Given the description of an element on the screen output the (x, y) to click on. 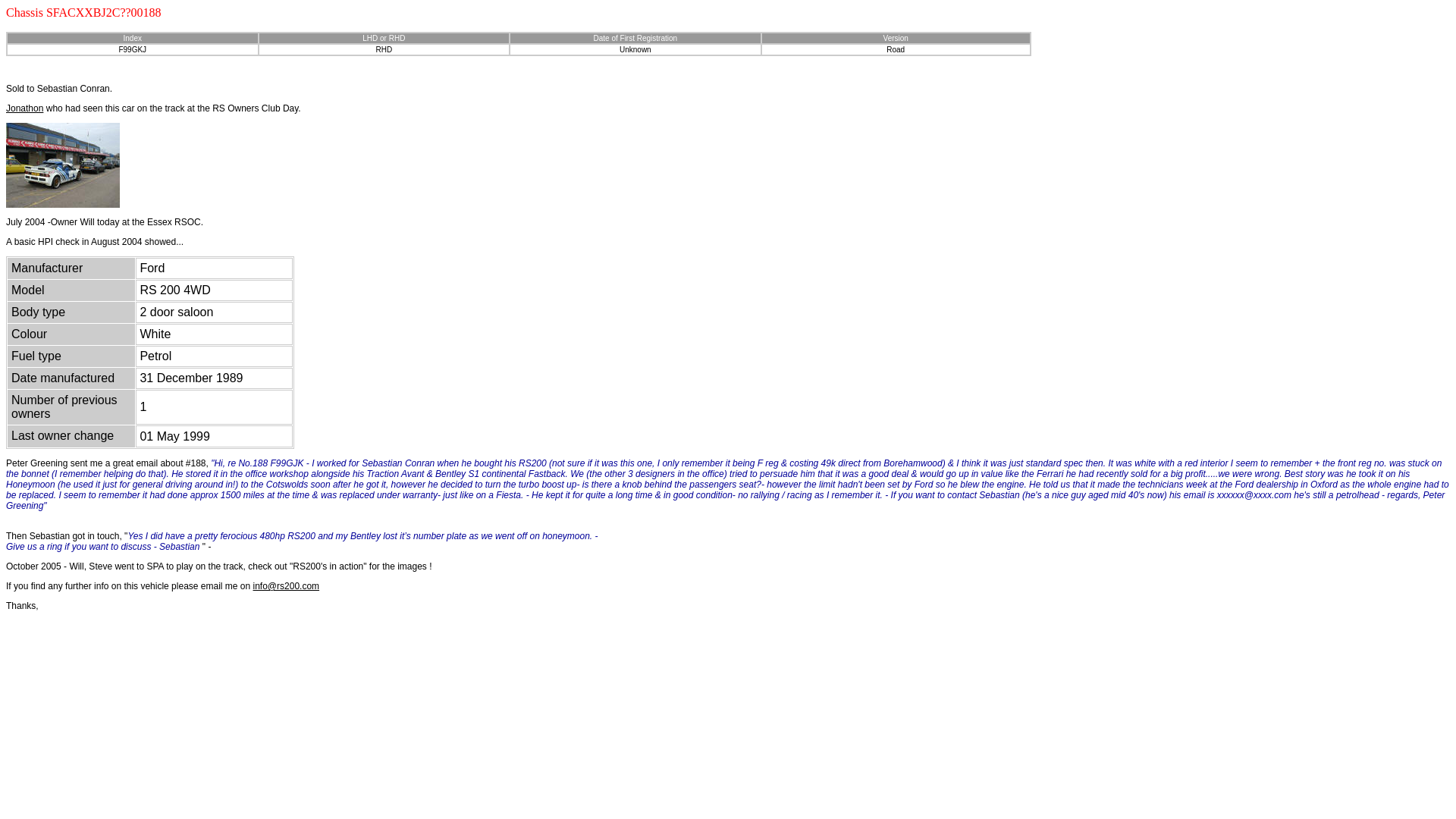
Jonathon (24, 108)
